Given the description of an element on the screen output the (x, y) to click on. 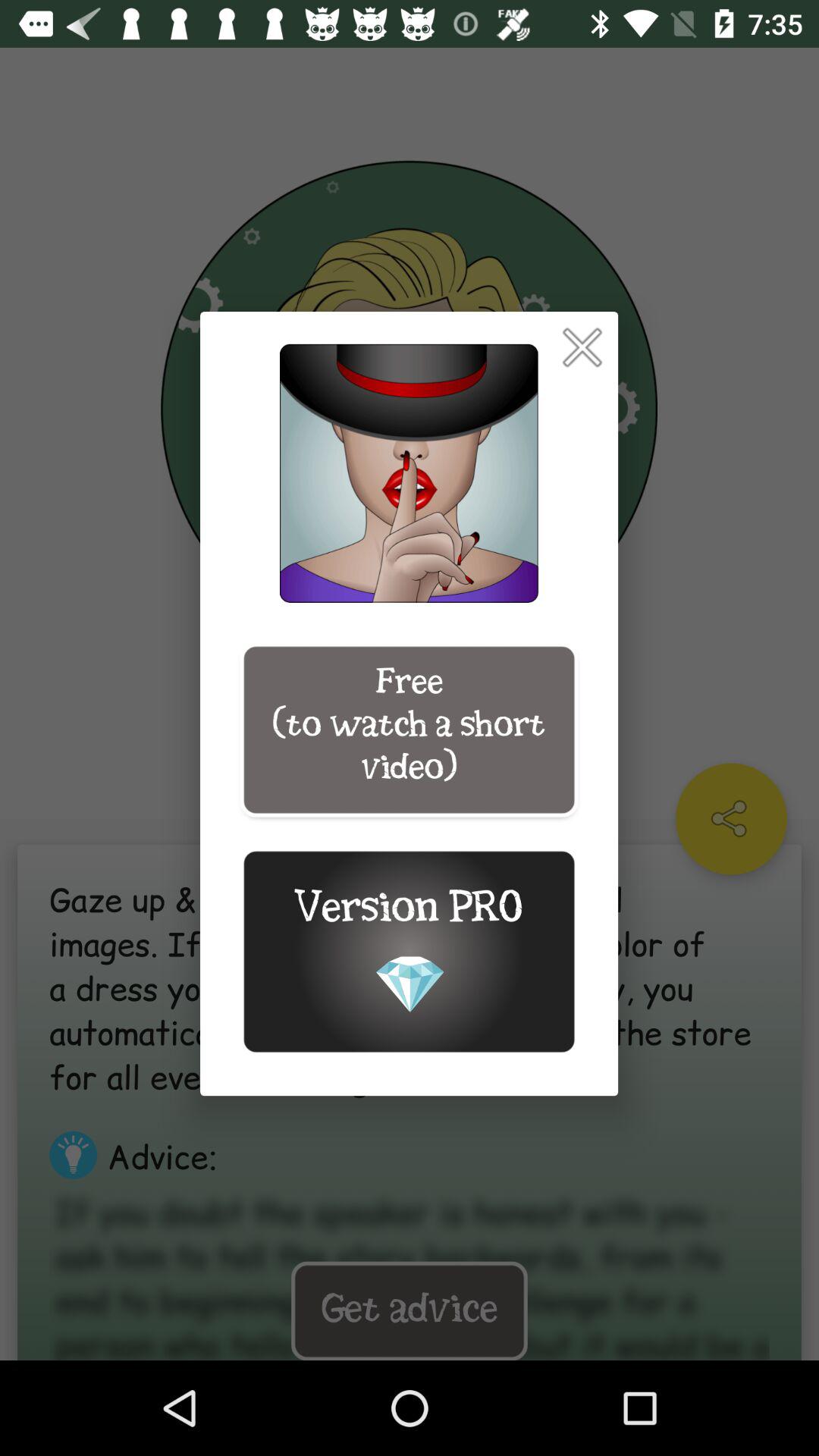
close the window (582, 347)
